Given the description of an element on the screen output the (x, y) to click on. 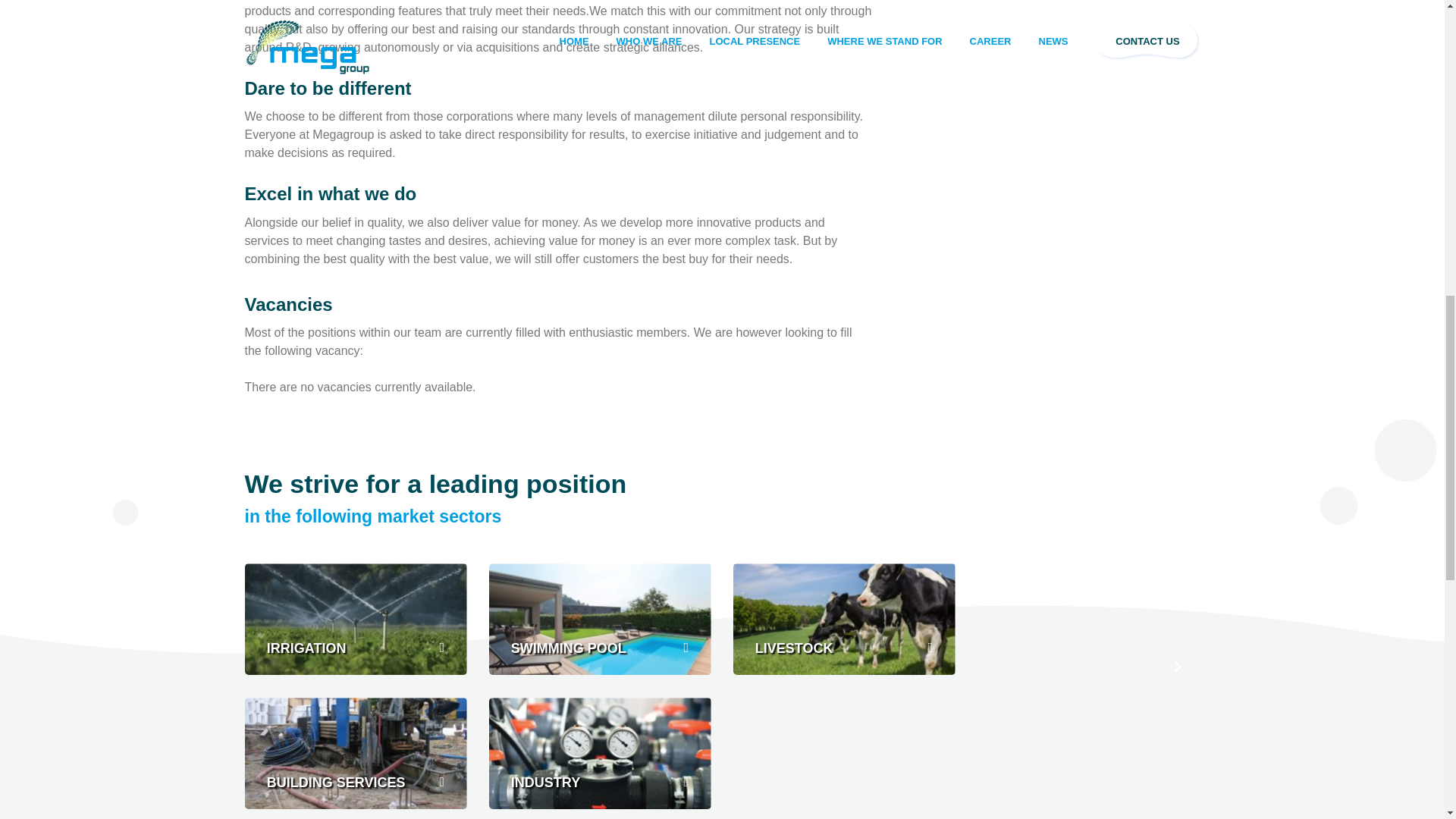
Swimming pool (598, 618)
Irrigation (354, 618)
SWIMMING POOL (598, 618)
IRRIGATION (354, 618)
Livestock (843, 618)
Industry (598, 753)
Building services (354, 753)
